Given the description of an element on the screen output the (x, y) to click on. 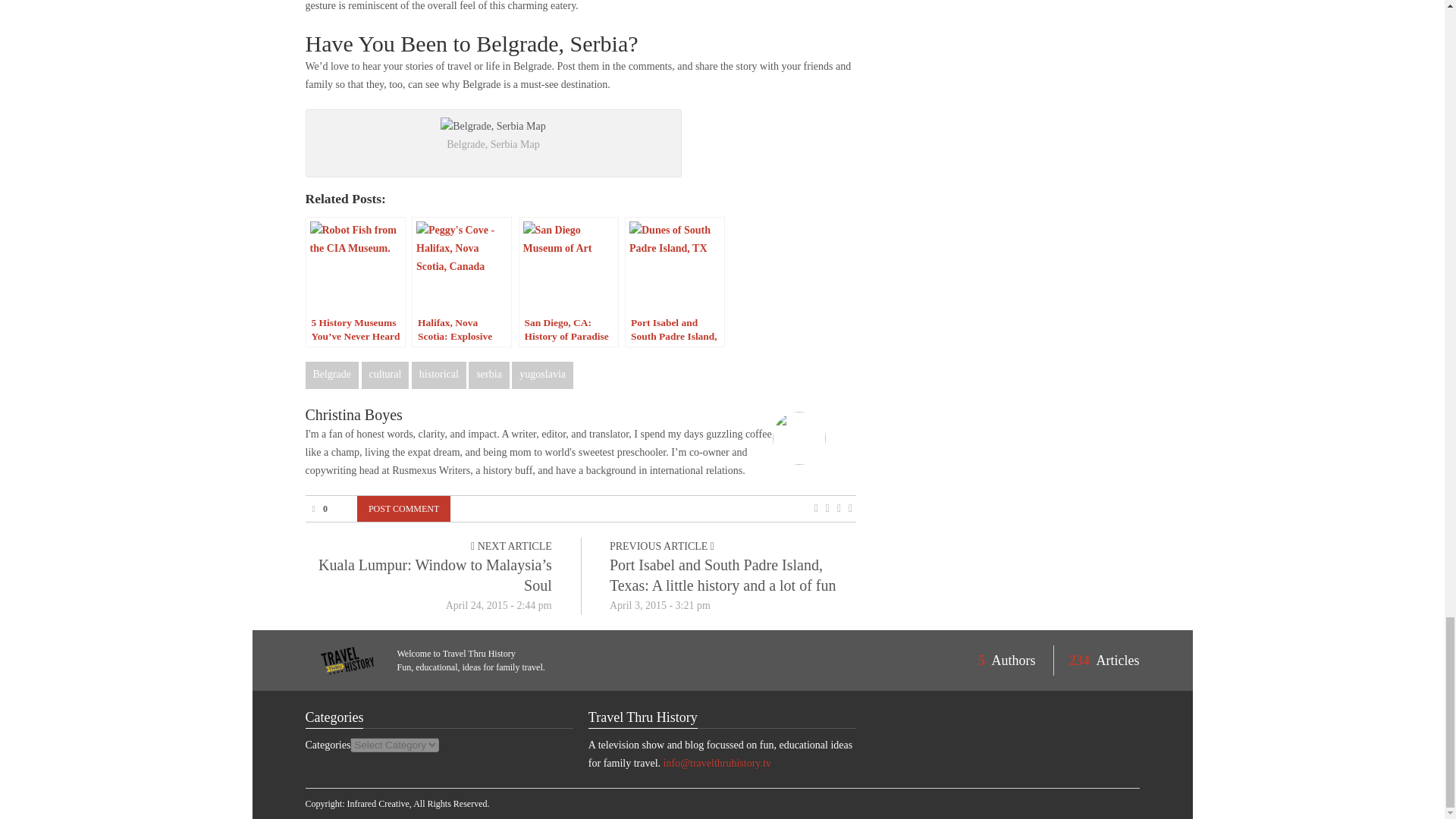
POST COMMENT (402, 508)
San Diego, CA: History of Paradise (568, 282)
0 (318, 506)
Halifax, Nova Scotia: Explosive History (462, 282)
